Given the description of an element on the screen output the (x, y) to click on. 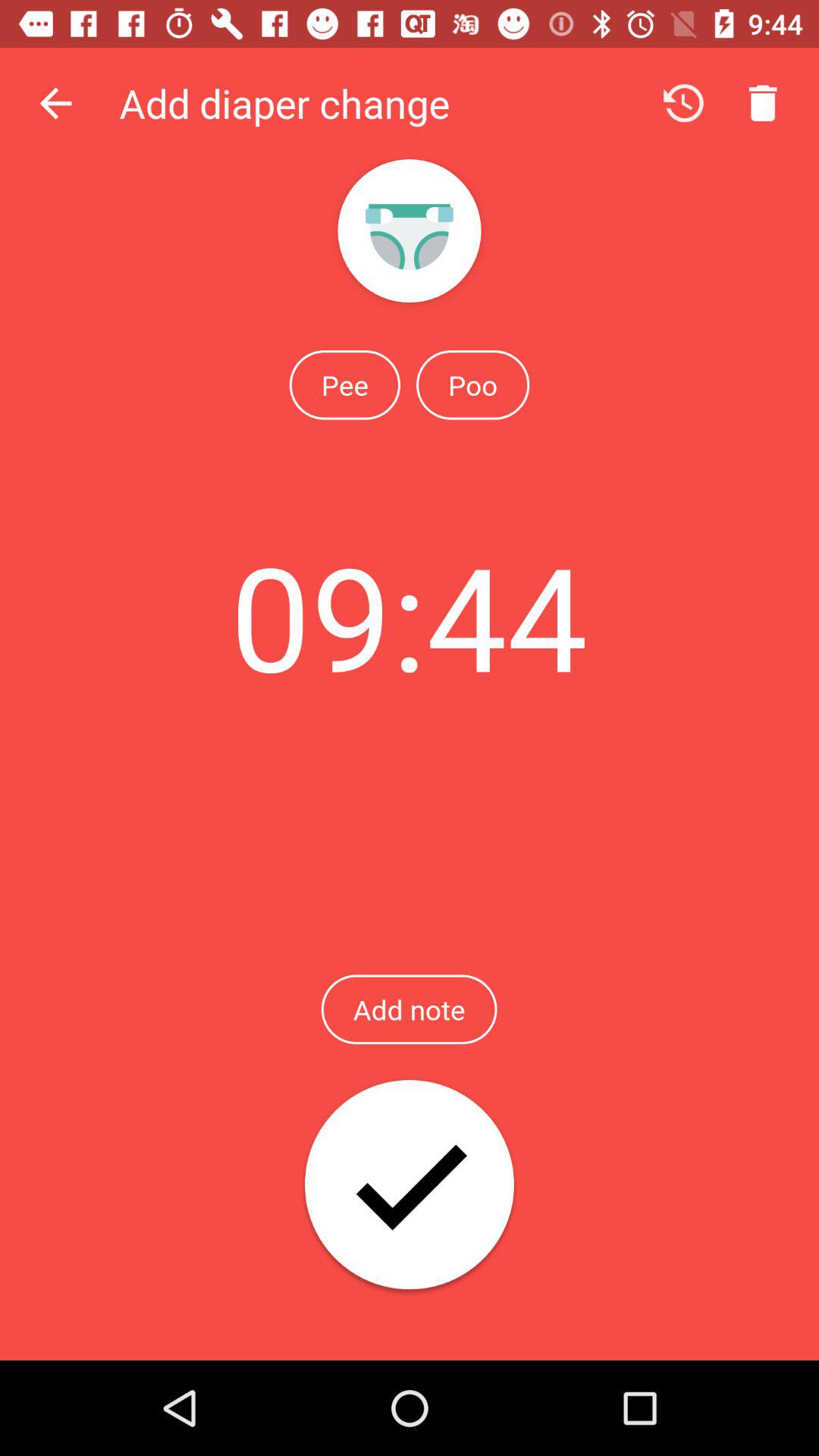
turn on icon next to the poo icon (344, 384)
